Given the description of an element on the screen output the (x, y) to click on. 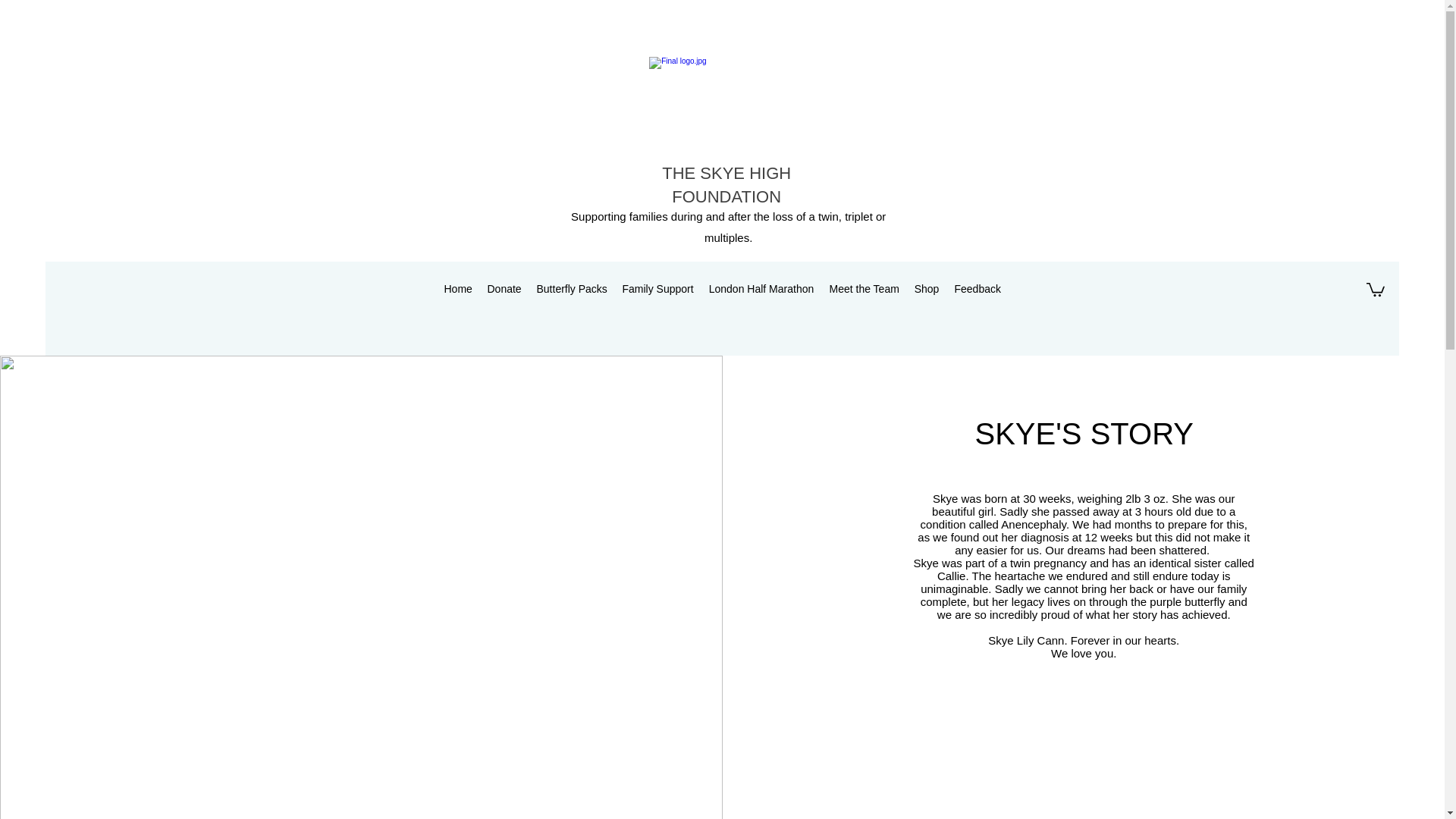
Shop (927, 288)
Butterfly Packs (571, 288)
Donate (503, 288)
Meet the Team (864, 288)
Feedback (976, 288)
London Half Marathon (760, 288)
Family Support (657, 288)
Home (458, 288)
